Given the description of an element on the screen output the (x, y) to click on. 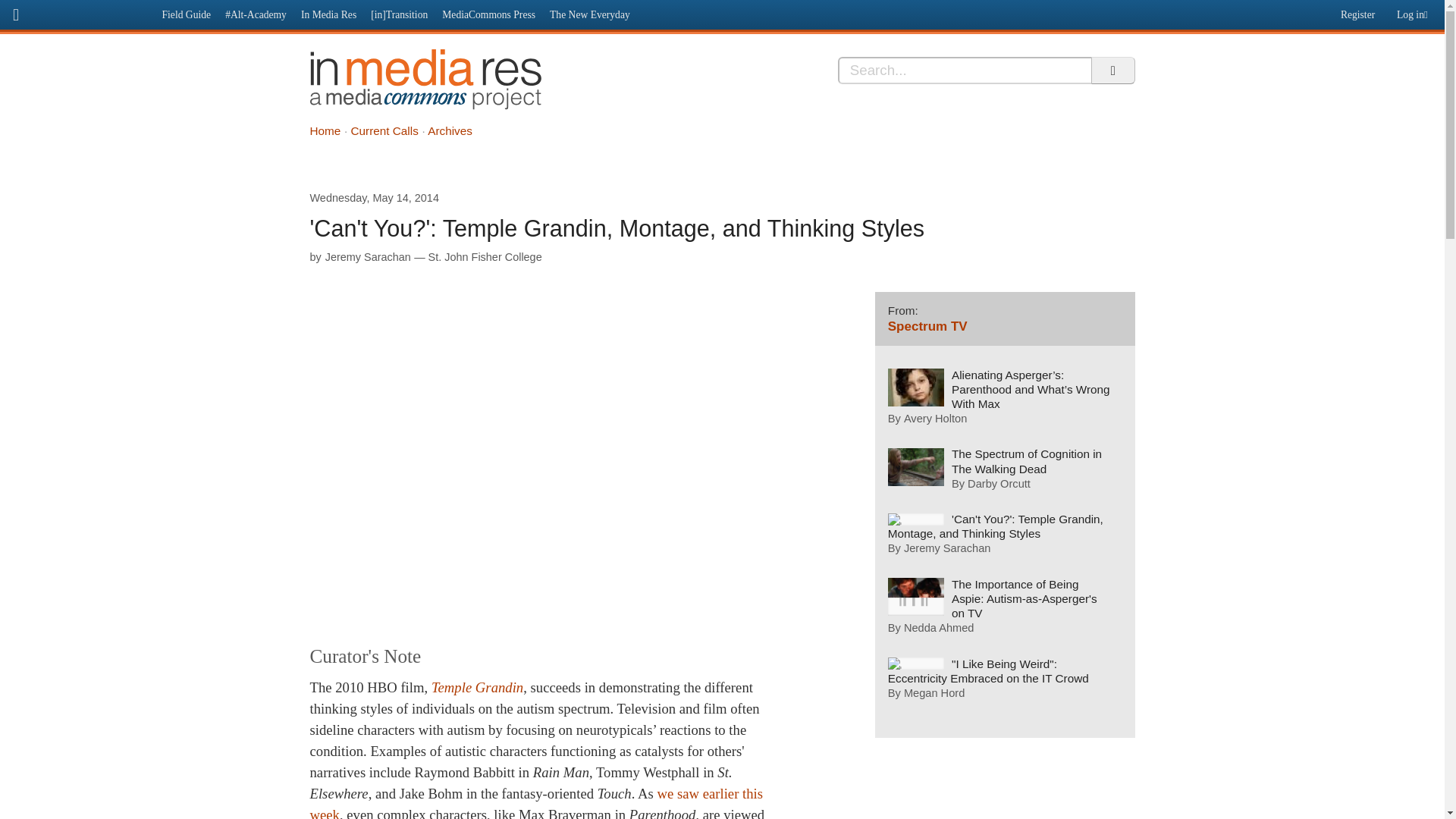
Register (1355, 11)
Archives (449, 130)
Home (324, 130)
In Media Res (424, 79)
Jeremy Sarachan (367, 256)
St. John Fisher College (484, 256)
Temple Grandin (476, 687)
Front page (77, 11)
Log in (1414, 11)
In Media Res (328, 14)
